Given the description of an element on the screen output the (x, y) to click on. 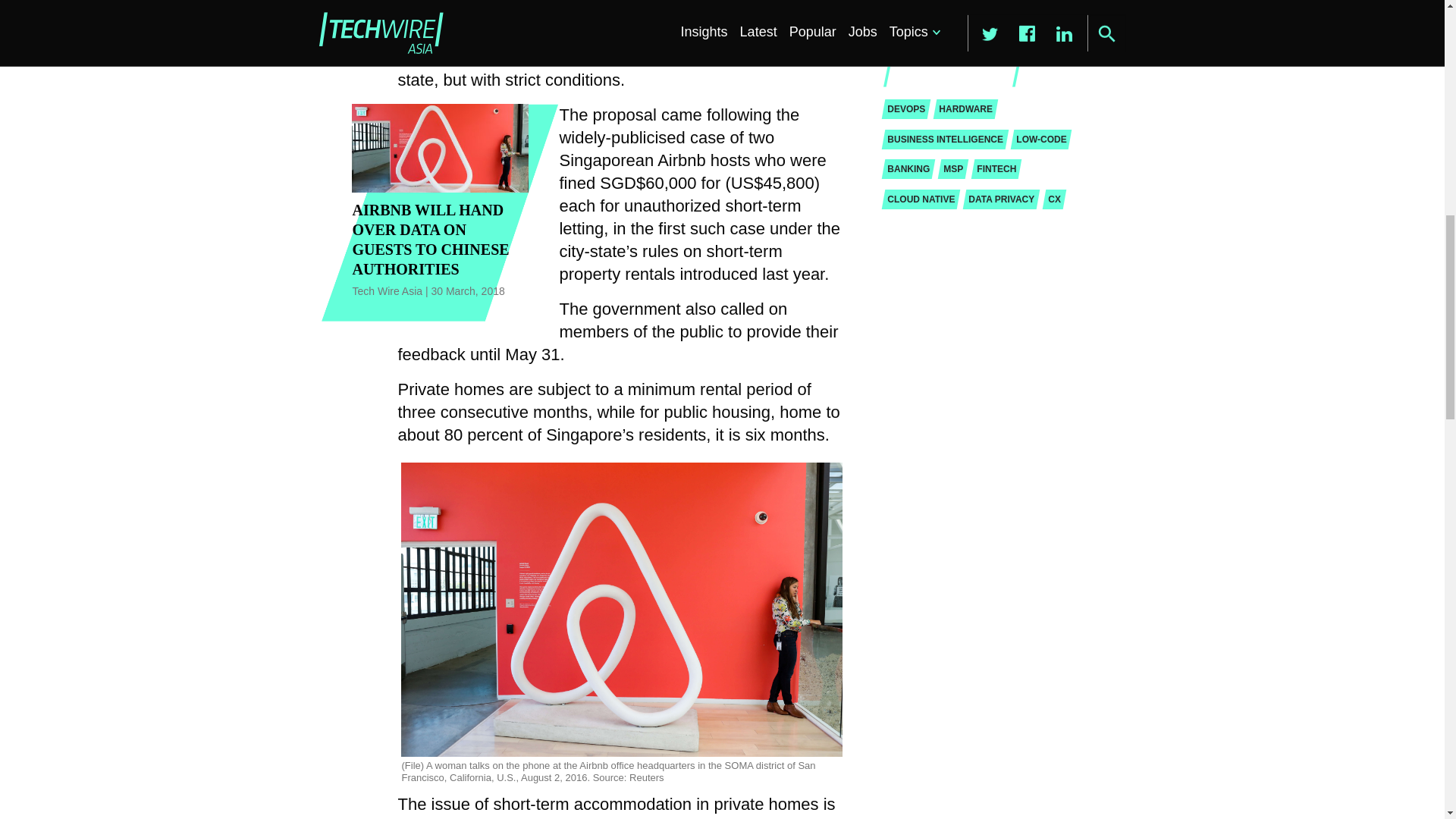
3rd party ad content (988, 22)
